Given the description of an element on the screen output the (x, y) to click on. 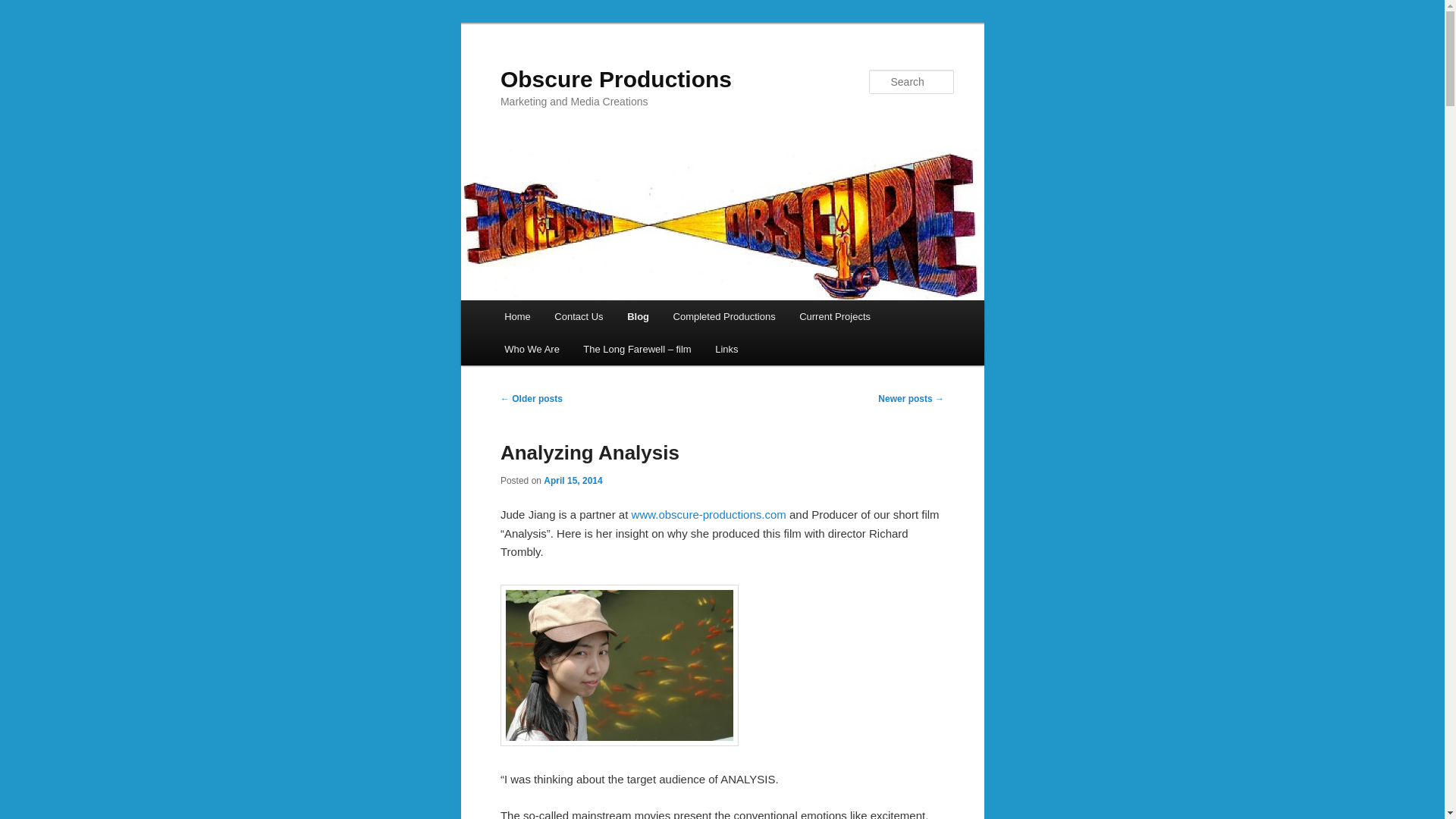
Completed Productions (724, 316)
Who We Are (531, 348)
11:31 (572, 480)
Contact Us (579, 316)
Home (516, 316)
Blog (637, 316)
Links (726, 348)
Obscure Productions (616, 78)
April 15, 2014 (572, 480)
Analyzing Analysis (589, 452)
www.obscure-productions.com (708, 513)
Current Projects (834, 316)
Search (24, 8)
